Given the description of an element on the screen output the (x, y) to click on. 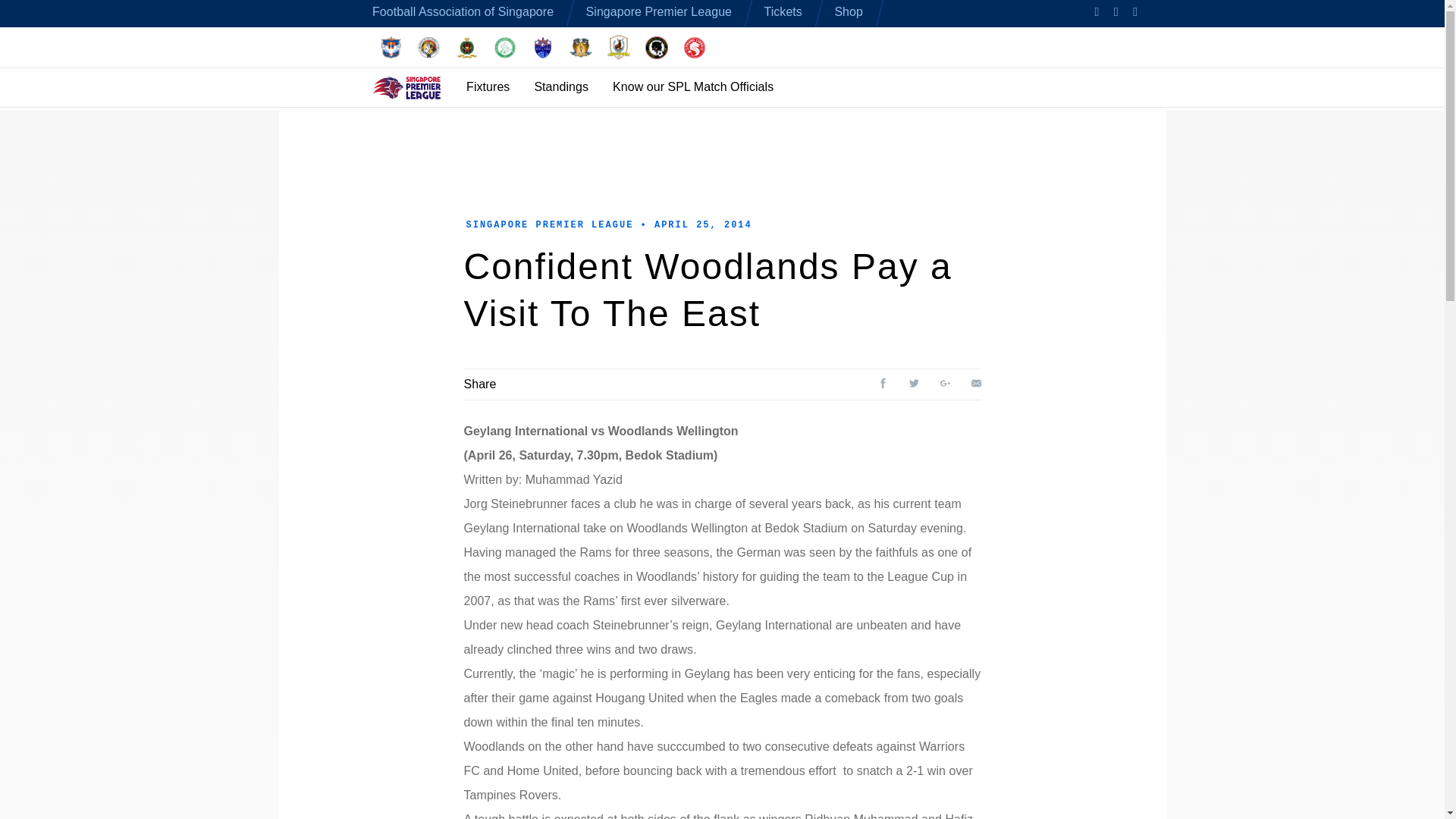
Fixtures (487, 87)
Singapore Premier League (659, 11)
Tickets (782, 11)
Football Association of Singapore (462, 11)
Shop (848, 11)
Standings (561, 87)
Know our SPL Match Officials (692, 87)
